Given the description of an element on the screen output the (x, y) to click on. 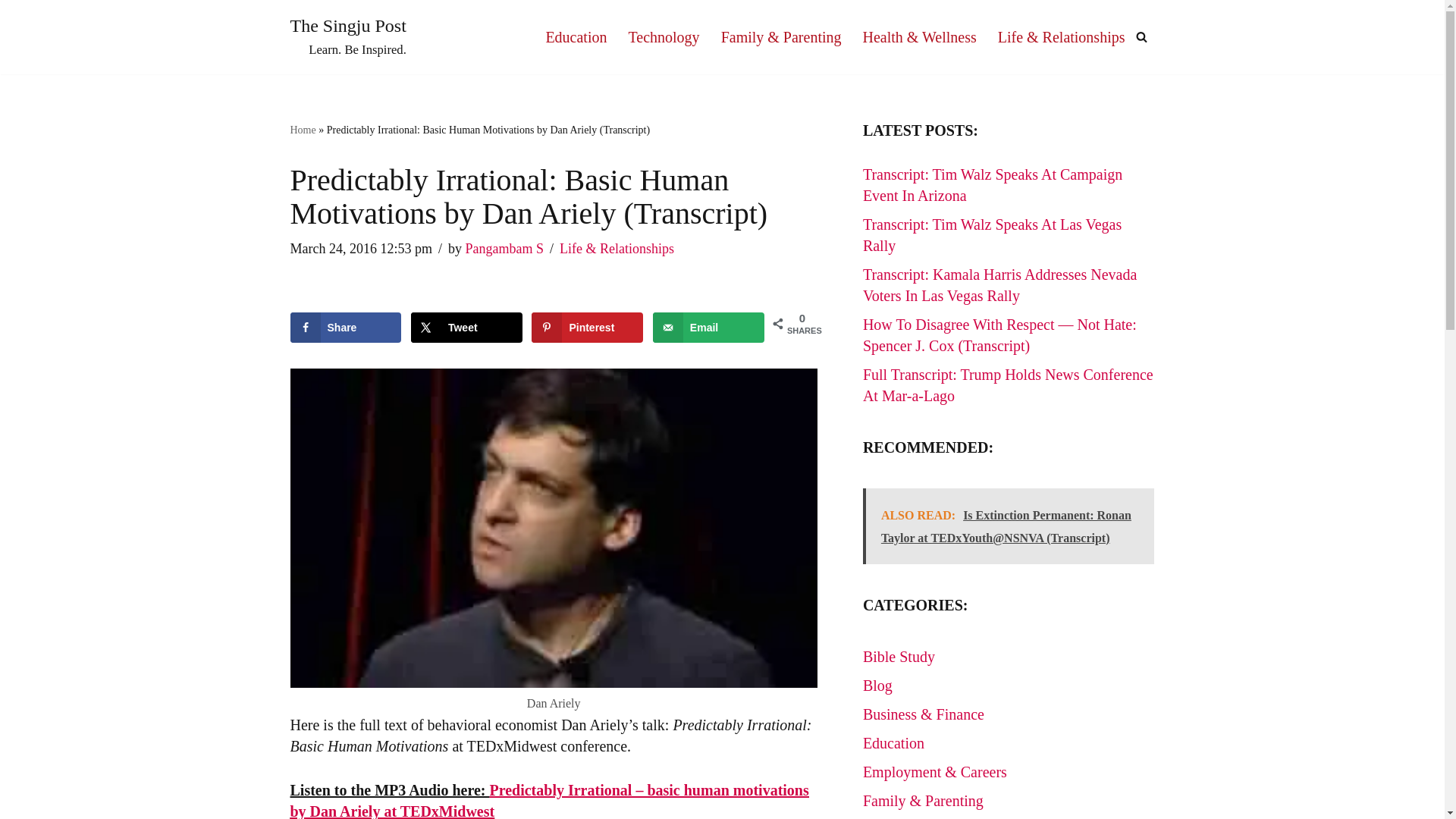
Home (302, 129)
Share on X (466, 327)
Education (575, 36)
Technology (662, 36)
Pinterest (587, 327)
Transcript: Tim Walz Speaks At Campaign Event In Arizona (347, 36)
Share (992, 184)
Pangambam S (345, 327)
Send over email (504, 248)
